Given the description of an element on the screen output the (x, y) to click on. 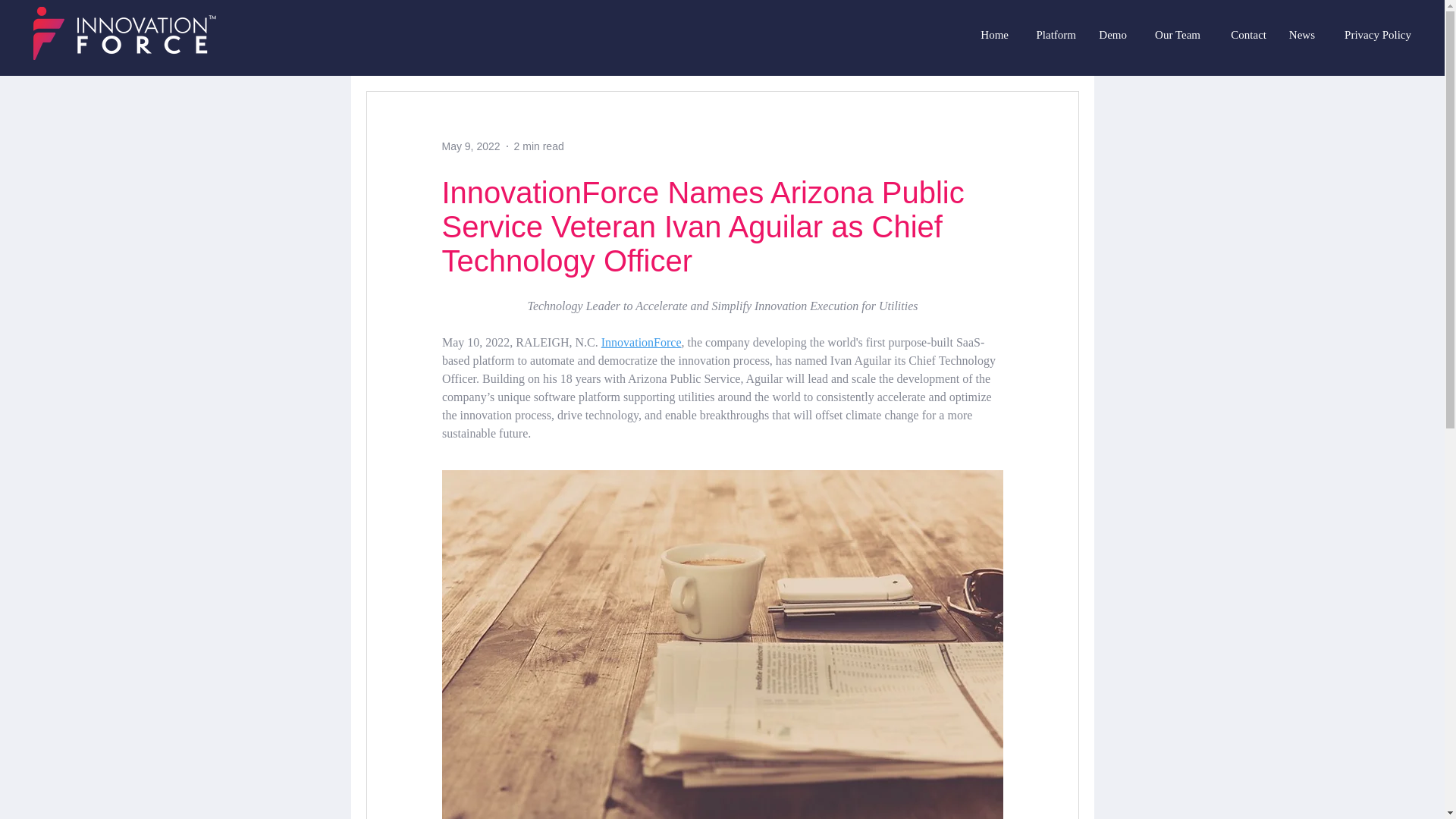
Our Team (1171, 34)
Privacy Policy (1370, 34)
Home (990, 34)
Contact (1241, 34)
InnovationForce (640, 341)
Platform (1049, 34)
News (1298, 34)
2 min read (538, 145)
May 9, 2022 (470, 145)
Demo (1108, 34)
